Given the description of an element on the screen output the (x, y) to click on. 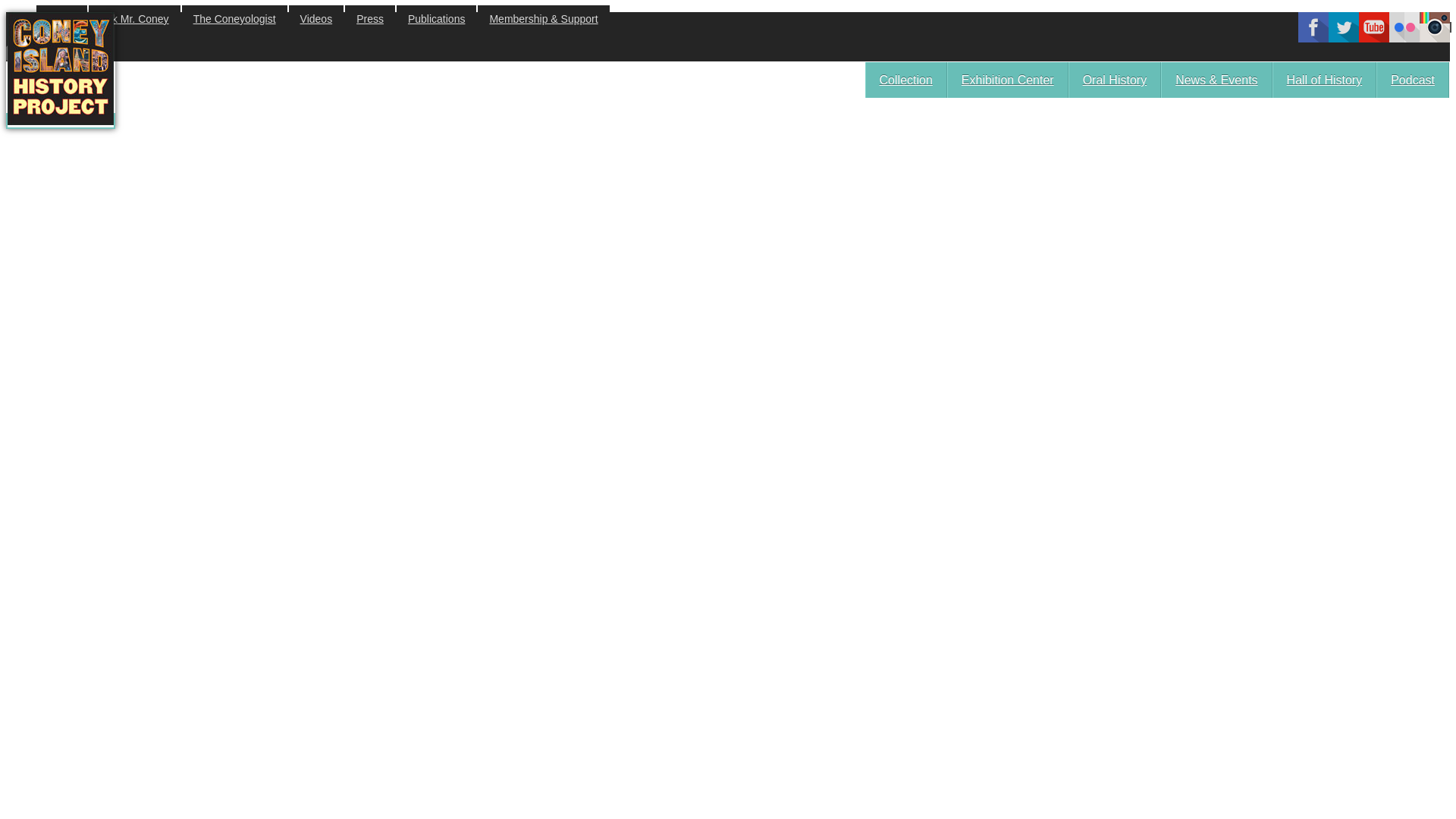
Youtube (1373, 38)
Publications (436, 18)
Collection (905, 79)
Oral History (1114, 79)
Twitter (1342, 38)
Toggle navigation (51, 53)
Ask Mr. Coney (134, 18)
Facebook (1312, 38)
Coney Island Hall of Fame (1324, 79)
